Given the description of an element on the screen output the (x, y) to click on. 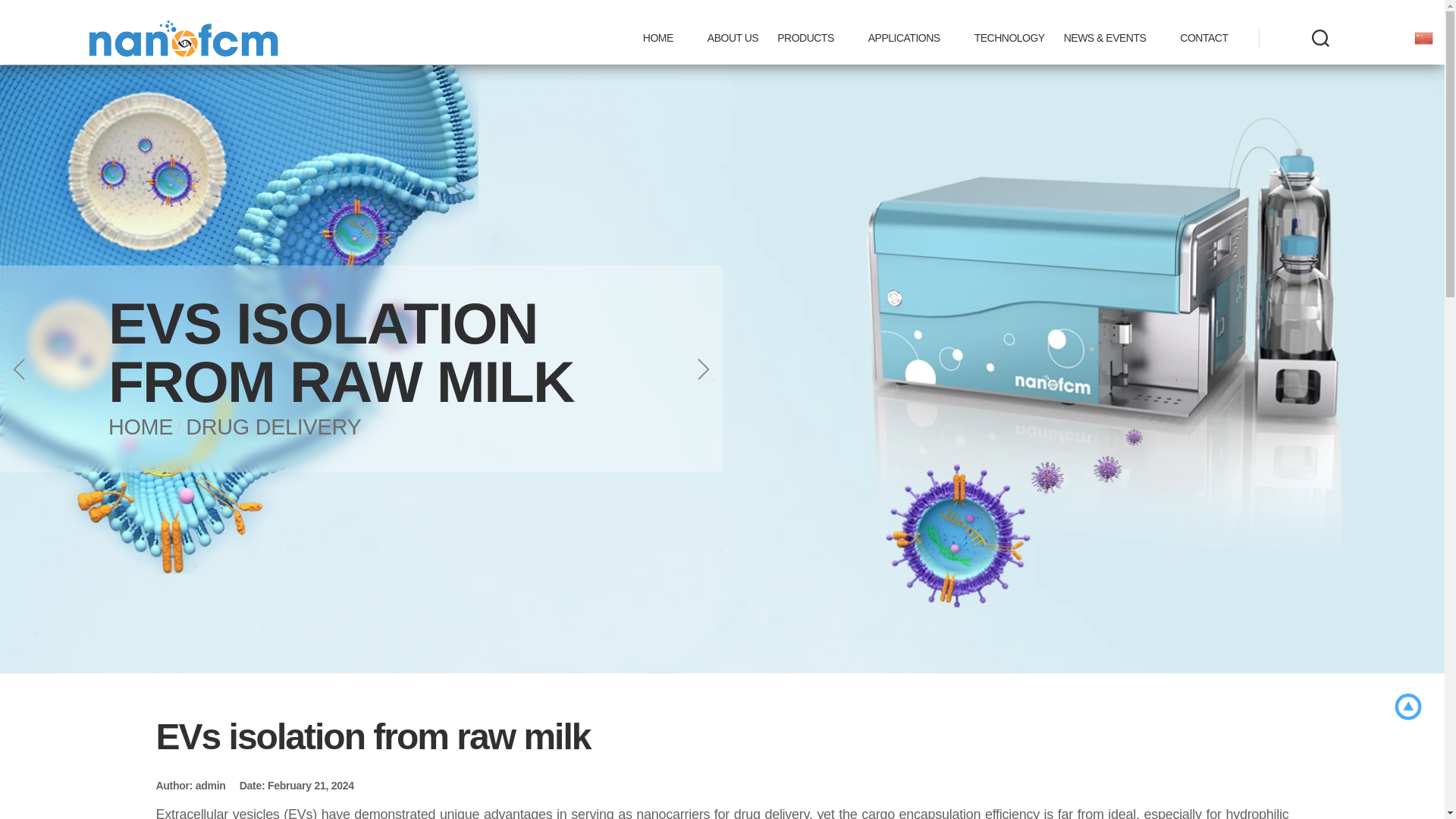
TECHNOLOGY (1009, 38)
Drug Delivery (273, 426)
ABOUT US (732, 38)
APPLICATIONS (911, 38)
CONTACT (1203, 38)
PRODUCTS (812, 38)
HOME (665, 38)
